Given the description of an element on the screen output the (x, y) to click on. 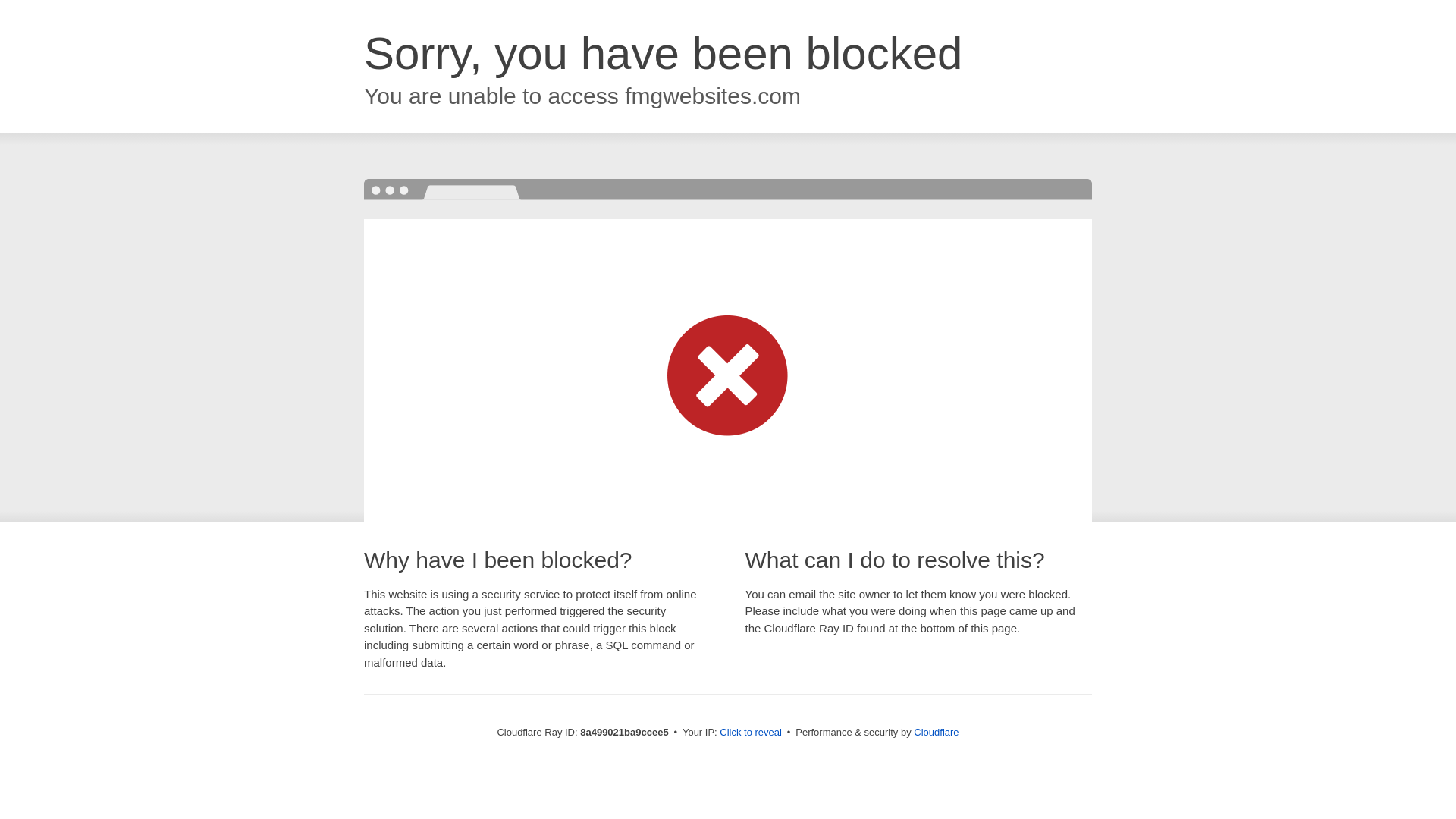
Cloudflare (936, 731)
Click to reveal (750, 732)
